Given the description of an element on the screen output the (x, y) to click on. 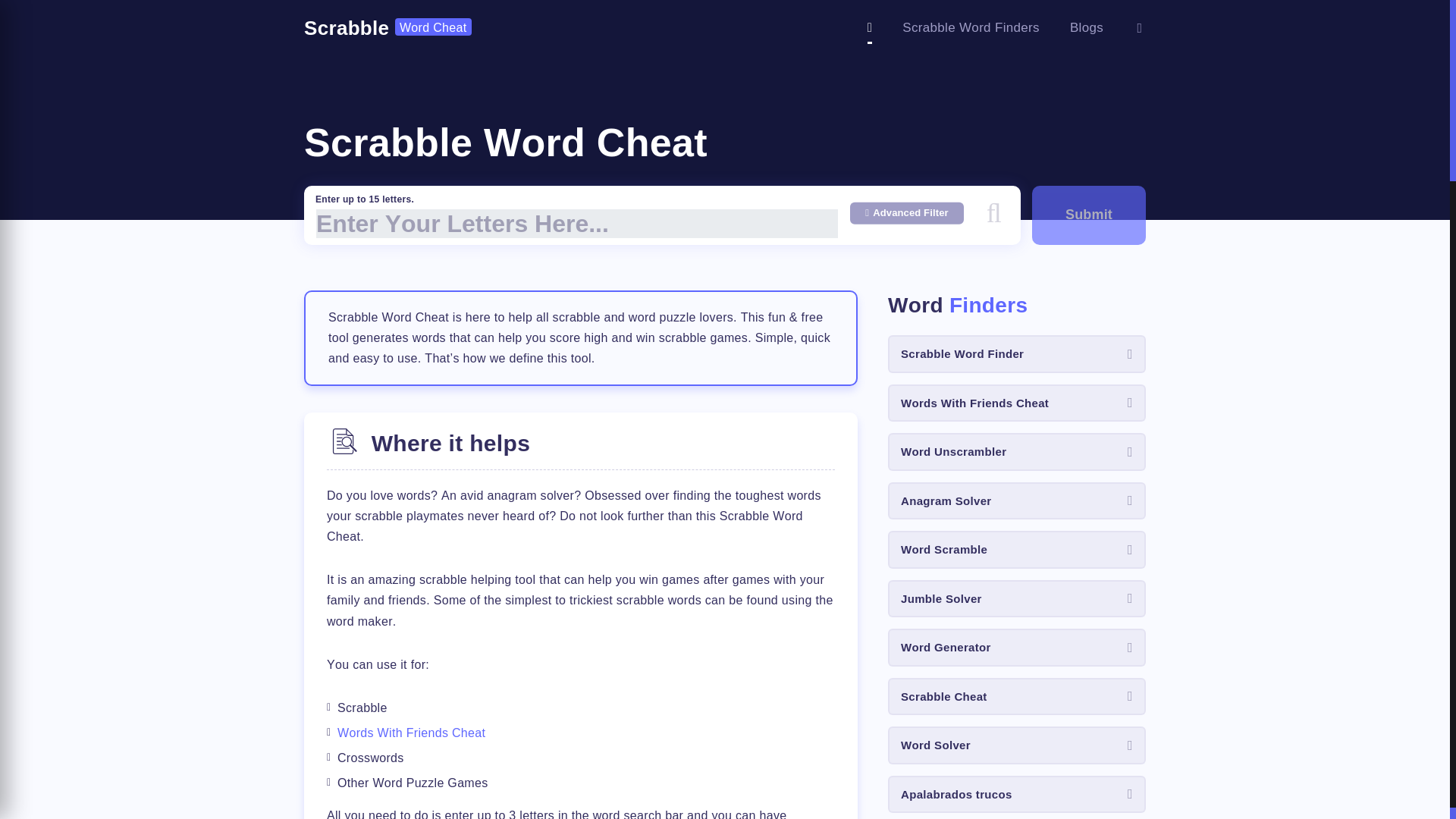
Submit (1088, 214)
Blogs (1086, 28)
Scrabble Word Finders (970, 28)
Words With Friends Cheat (410, 733)
Scrabble Word Cheat (387, 28)
Submit (1088, 214)
Advanced Filter (906, 213)
